Given the description of an element on the screen output the (x, y) to click on. 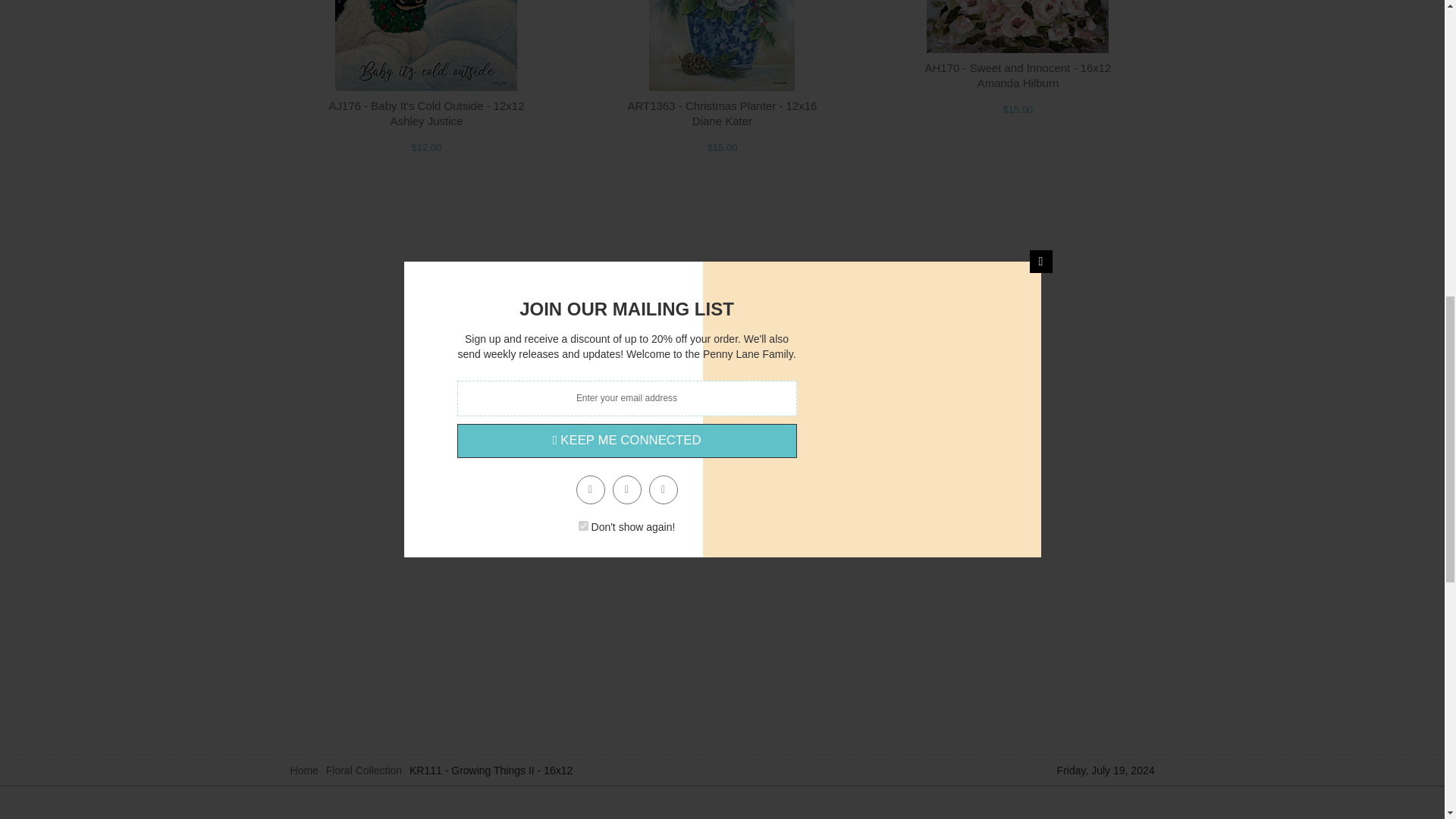
Ashley Justice (426, 120)
ART1363 - Christmas Planter - 12x16 (721, 105)
AJ176 - Baby It's Cold Outside - 12x12 (426, 105)
AH170 - Sweet and Innocent - 16x12 (1017, 67)
Amanda Hilburn (1017, 82)
Diane Kater (722, 120)
